Given the description of an element on the screen output the (x, y) to click on. 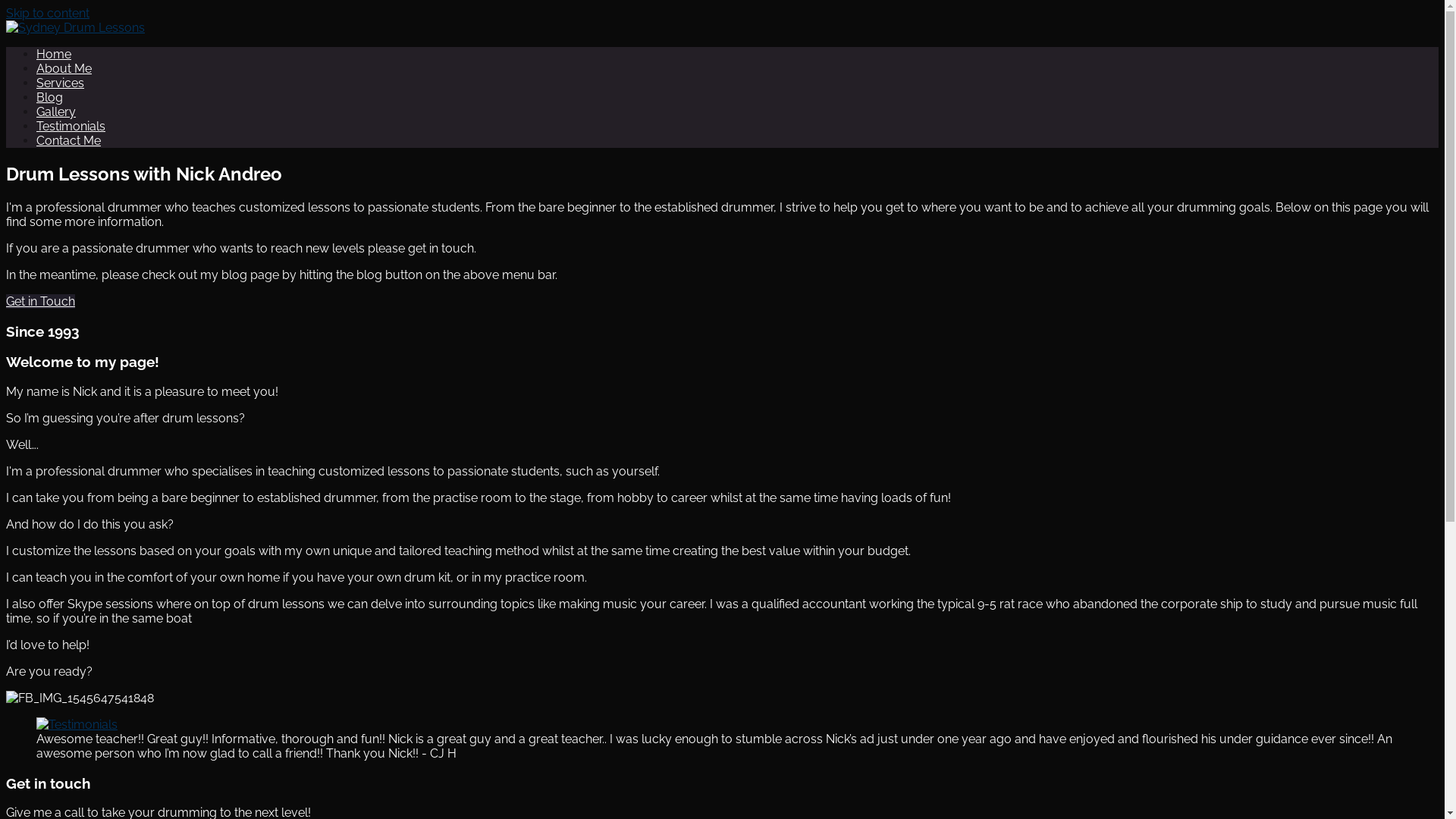
Home Element type: text (53, 54)
About Me Element type: text (63, 68)
Skip to content Element type: text (47, 13)
Contact Me Element type: text (68, 140)
Testimonials Element type: hover (76, 724)
Get in Touch Element type: text (40, 301)
Gallery Element type: text (55, 111)
FB_IMG_1545647541848 Element type: hover (79, 697)
Sydney Drum Lessons Element type: text (130, 66)
Blog Element type: text (49, 97)
Testimonials Element type: text (70, 126)
Services Element type: text (60, 82)
